Given the description of an element on the screen output the (x, y) to click on. 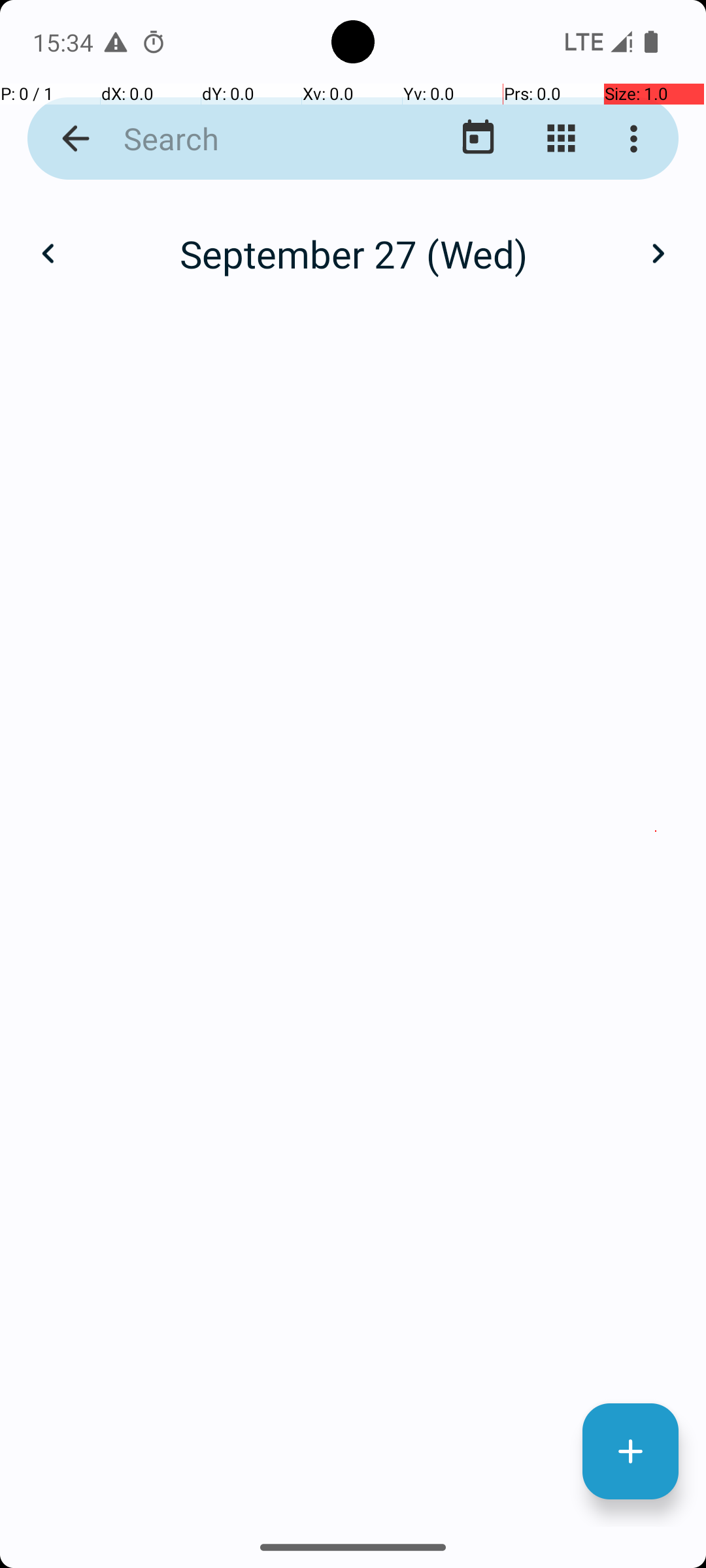
Go to today Element type: android.widget.Button (477, 138)
September 27 (Wed) Element type: android.widget.TextView (352, 253)
September Element type: android.widget.TextView (352, 239)
